Given the description of an element on the screen output the (x, y) to click on. 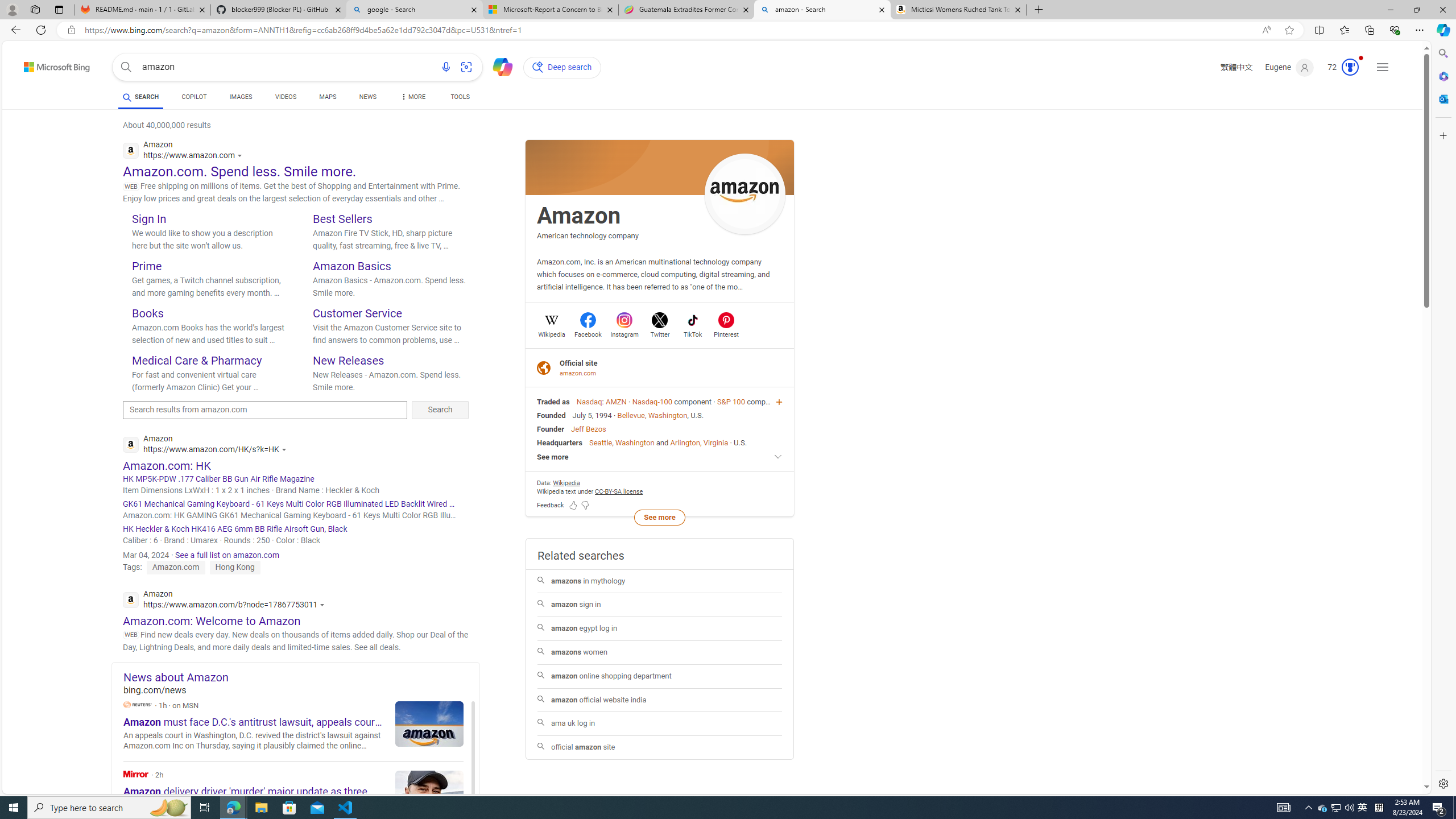
amazon online shopping department (659, 675)
News about Amazon (301, 677)
HK Heckler & Koch HK416 AEG 6mm BB Rifle Airsoft Gun, Black (295, 528)
Search button (126, 66)
Amazon (579, 215)
Search results from amazon.com (264, 409)
Seattle, Washington (622, 442)
amazon egypt log in (659, 628)
See more (660, 456)
